Given the description of an element on the screen output the (x, y) to click on. 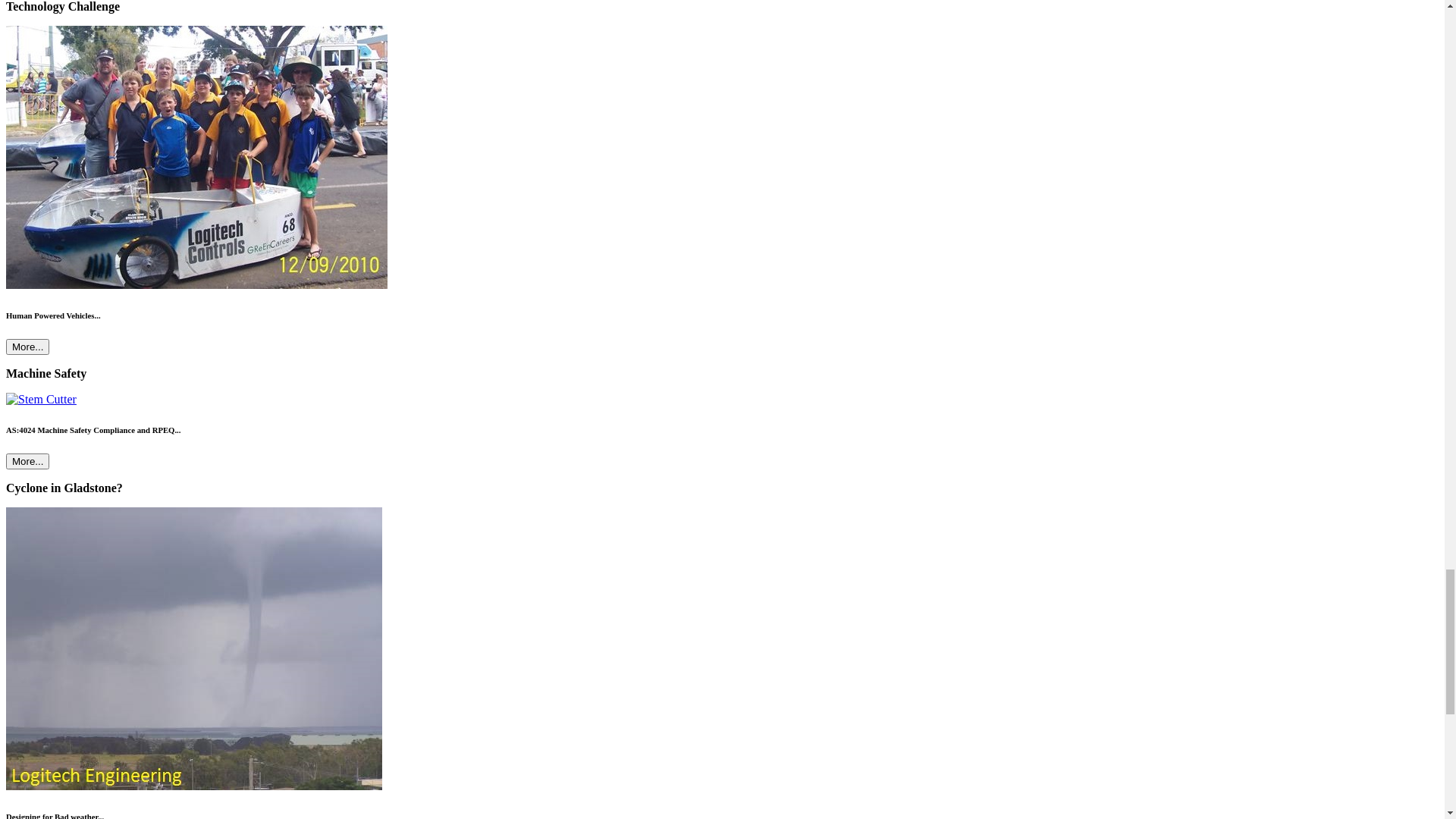
News Element type: text (24, 760)
Contact Us Element type: text (93, 257)
Capabilities Element type: text (95, 216)
Home Element type: text (25, 729)
More Element type: text (49, 202)
Sustainability Element type: text (99, 243)
Capabilities Element type: text (65, 161)
News Element type: text (24, 759)
PLC Automation< Element type: text (344, 698)
Home Element type: text (25, 728)
Logitech Element type: text (64, 94)
About Element type: text (25, 791)
News & Media Element type: text (73, 147)
About Element type: text (51, 134)
Home Element type: text (50, 120)
Contact Us Element type: text (63, 188)
About Element type: text (25, 792)
Careers Element type: text (54, 175)
Careers Element type: text (84, 229)
